Given the description of an element on the screen output the (x, y) to click on. 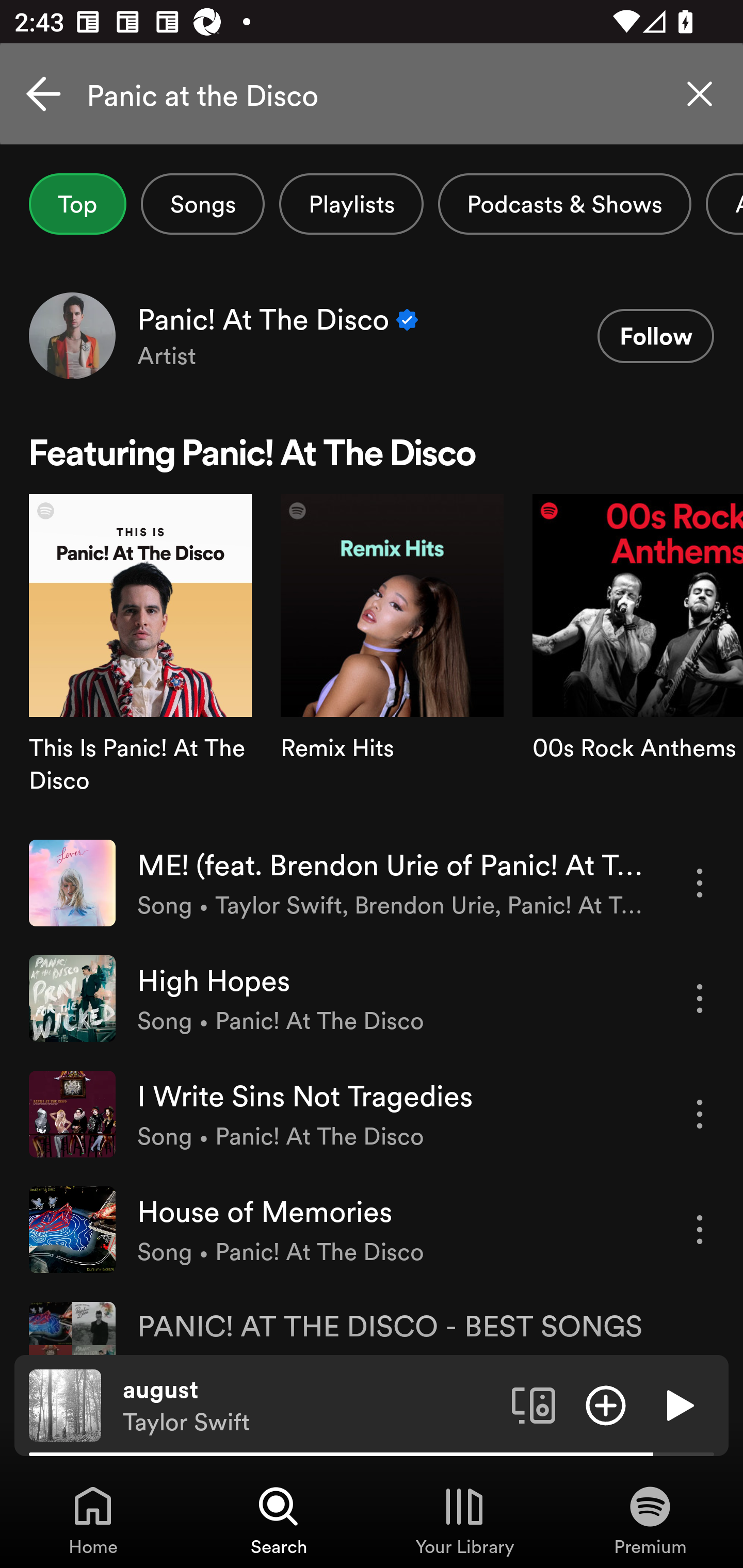
Panic at the Disco (371, 93)
Cancel (43, 93)
Clear search query (699, 93)
Top (77, 203)
Songs (202, 203)
Playlists (351, 203)
Podcasts & Shows (564, 203)
Panic! At The Disco Verified Artist Follow Follow (371, 335)
Follow (655, 335)
Search card image This Is Panic! At The Disco (139, 658)
Search card image Remix Hits (391, 658)
Search card image 00s Rock Anthems (637, 658)
More options for song High Hopes (699, 997)
More options for song I Write Sins Not Tragedies (699, 1113)
More options for song House of Memories (699, 1229)
PANIC! AT THE DISCO - BEST SONGS Playlist (371, 1320)
august Taylor Swift (309, 1405)
The cover art of the currently playing track (64, 1404)
Connect to a device. Opens the devices menu (533, 1404)
Add item (605, 1404)
Play (677, 1404)
Home, Tab 1 of 4 Home Home (92, 1519)
Search, Tab 2 of 4 Search Search (278, 1519)
Your Library, Tab 3 of 4 Your Library Your Library (464, 1519)
Premium, Tab 4 of 4 Premium Premium (650, 1519)
